Given the description of an element on the screen output the (x, y) to click on. 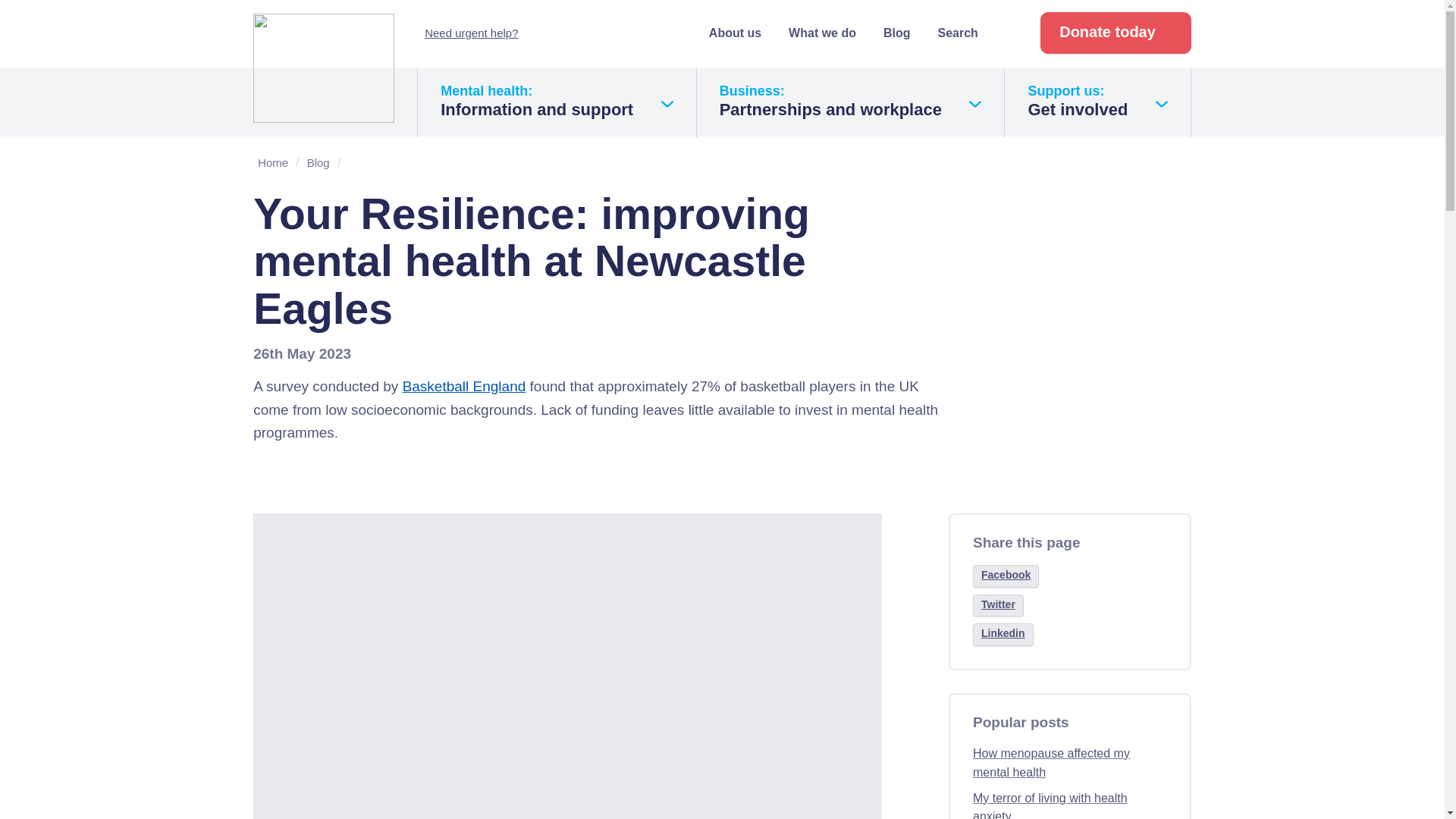
Search (964, 32)
Donate today (1116, 33)
Go to home page (323, 67)
Need urgent help? (556, 102)
Skip to content (471, 32)
About us (851, 102)
What we do (45, 10)
Blog (735, 32)
